Given the description of an element on the screen output the (x, y) to click on. 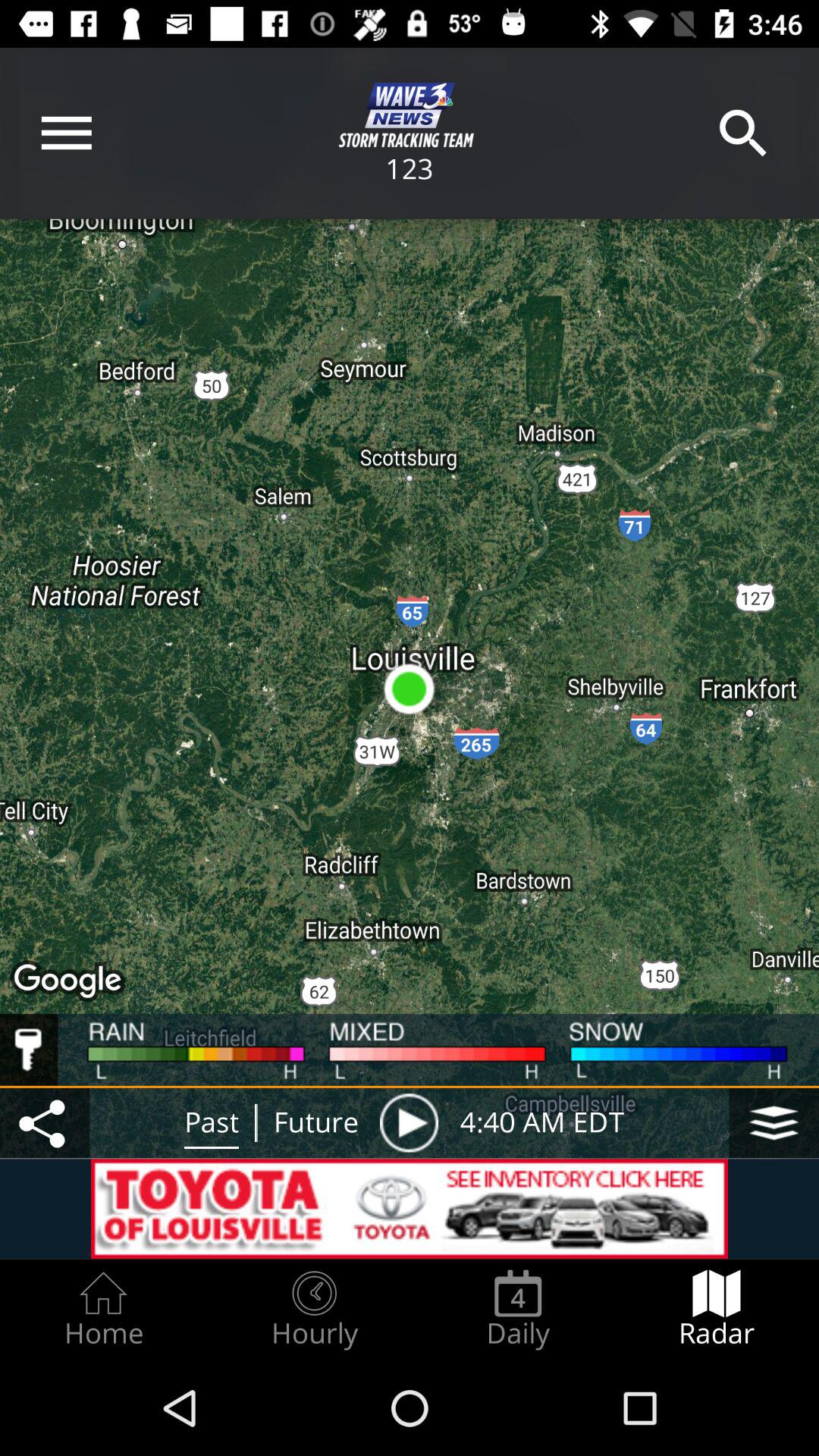
press item next to 4 40 am (409, 1122)
